Given the description of an element on the screen output the (x, y) to click on. 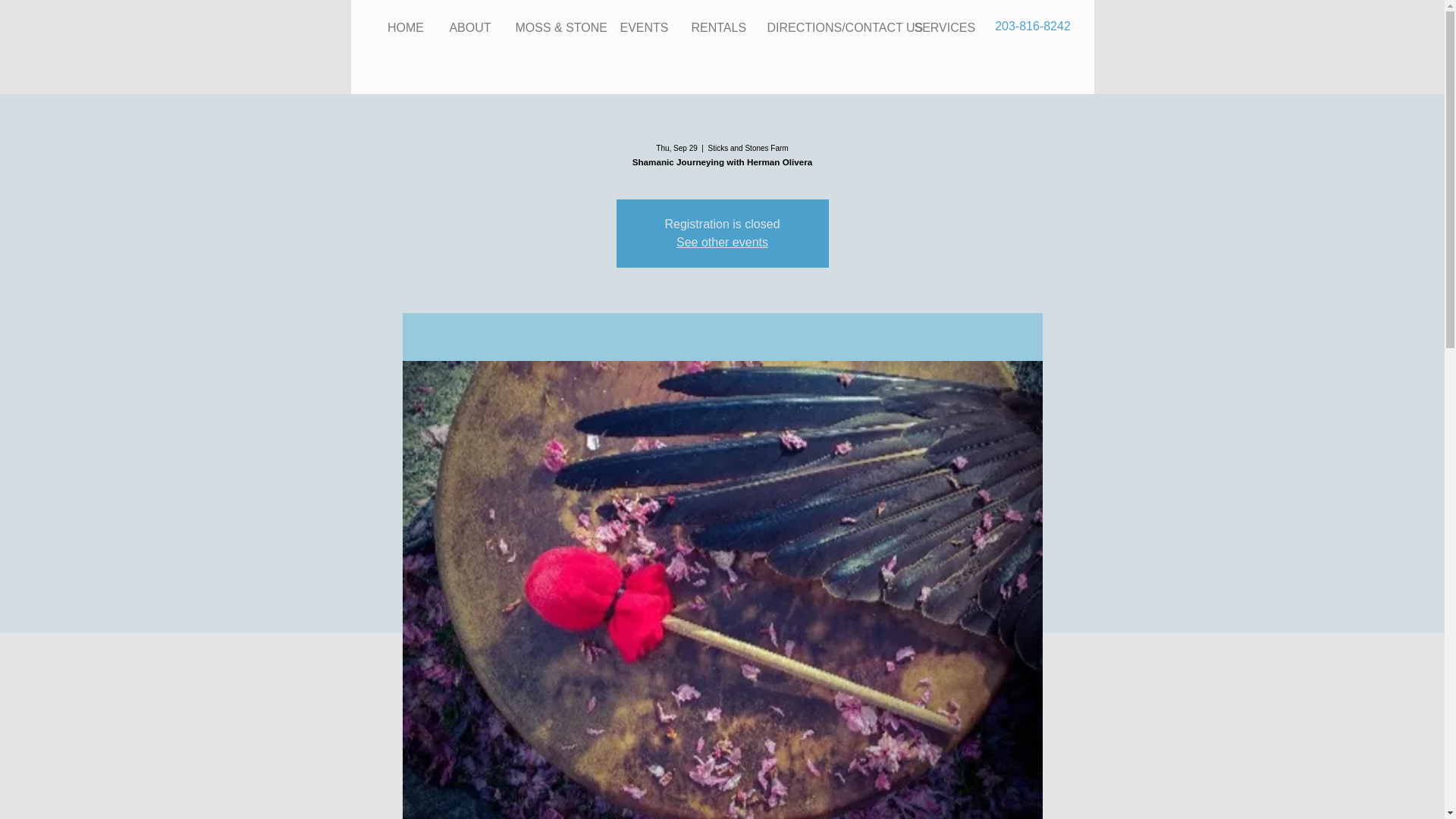
EVENTS (643, 27)
HOME (404, 27)
See other events (722, 241)
ABOUT (469, 27)
